Given the description of an element on the screen output the (x, y) to click on. 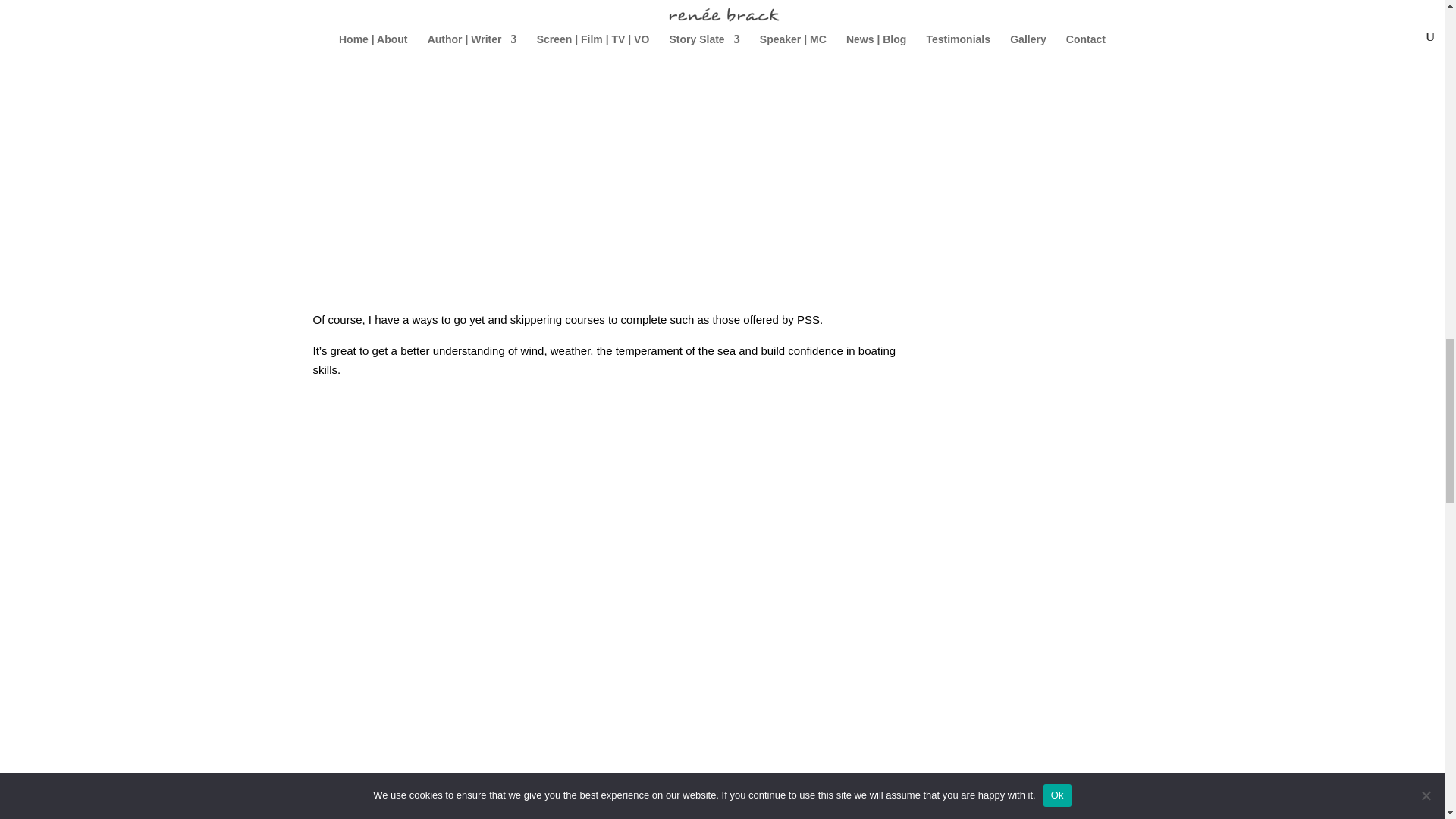
skippering courses (558, 318)
